Given the description of an element on the screen output the (x, y) to click on. 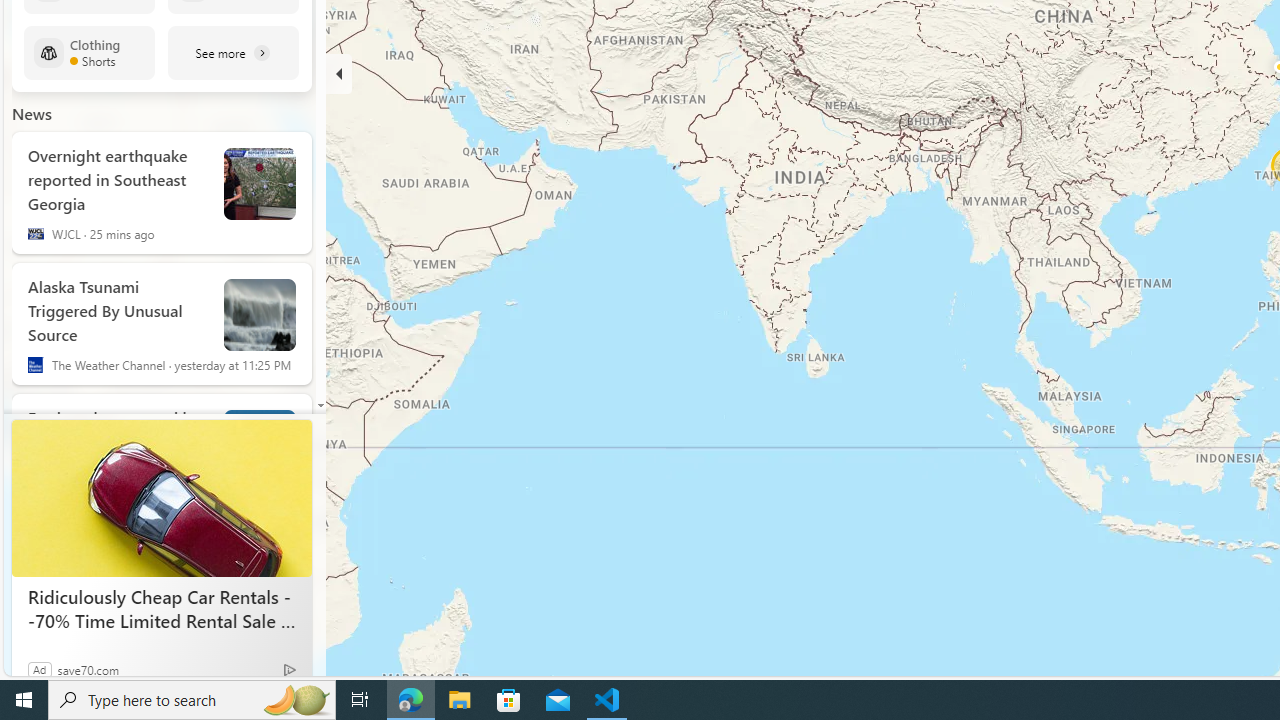
See more (233, 52)
